Given the description of an element on the screen output the (x, y) to click on. 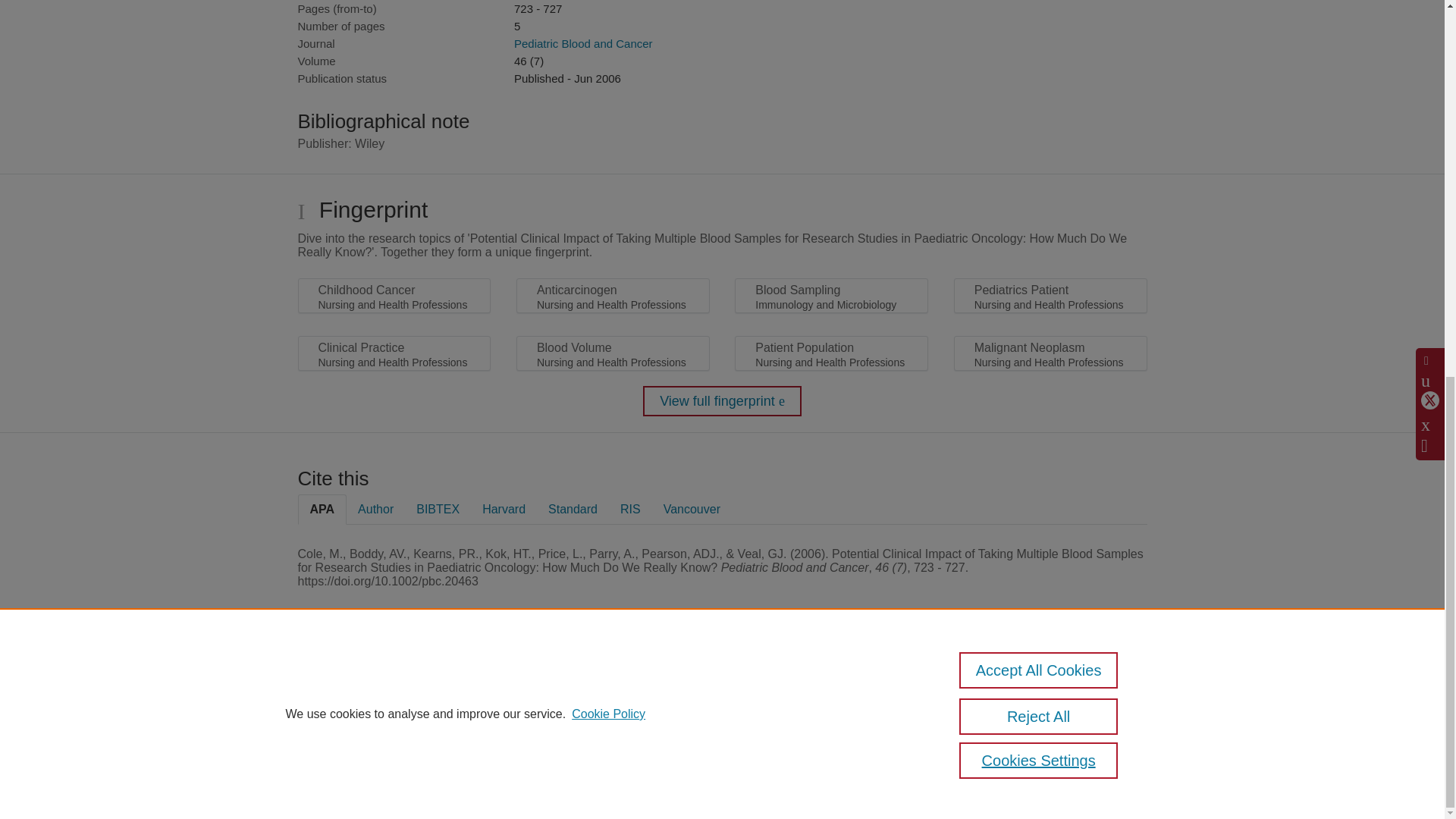
View full fingerprint (722, 400)
Pure (362, 686)
Scopus (394, 686)
Pediatric Blood and Cancer (582, 42)
